Given the description of an element on the screen output the (x, y) to click on. 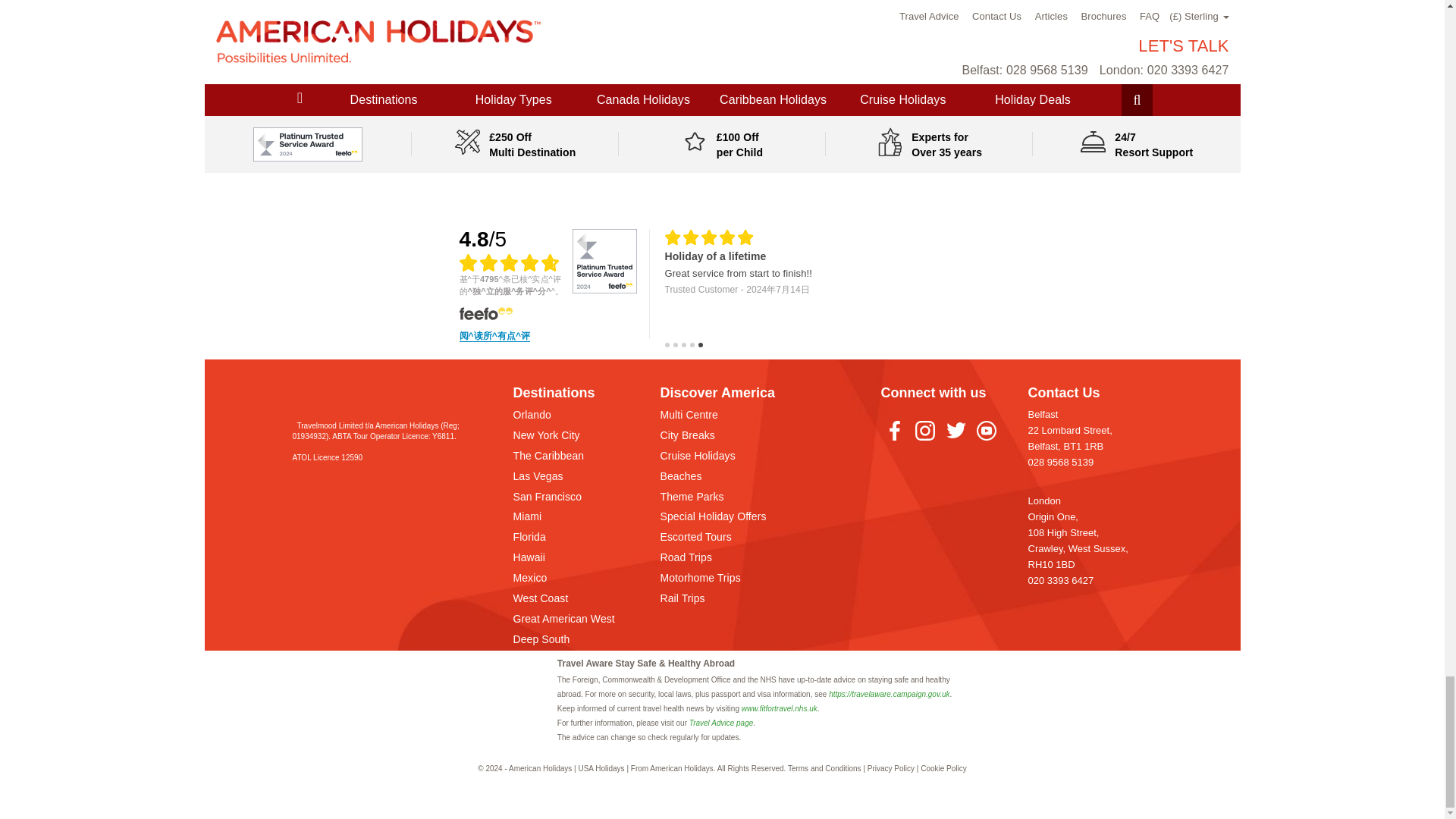
No (788, 20)
Yes (348, 20)
Subscribe (721, 108)
No (402, 20)
Yes (735, 20)
